Given the description of an element on the screen output the (x, y) to click on. 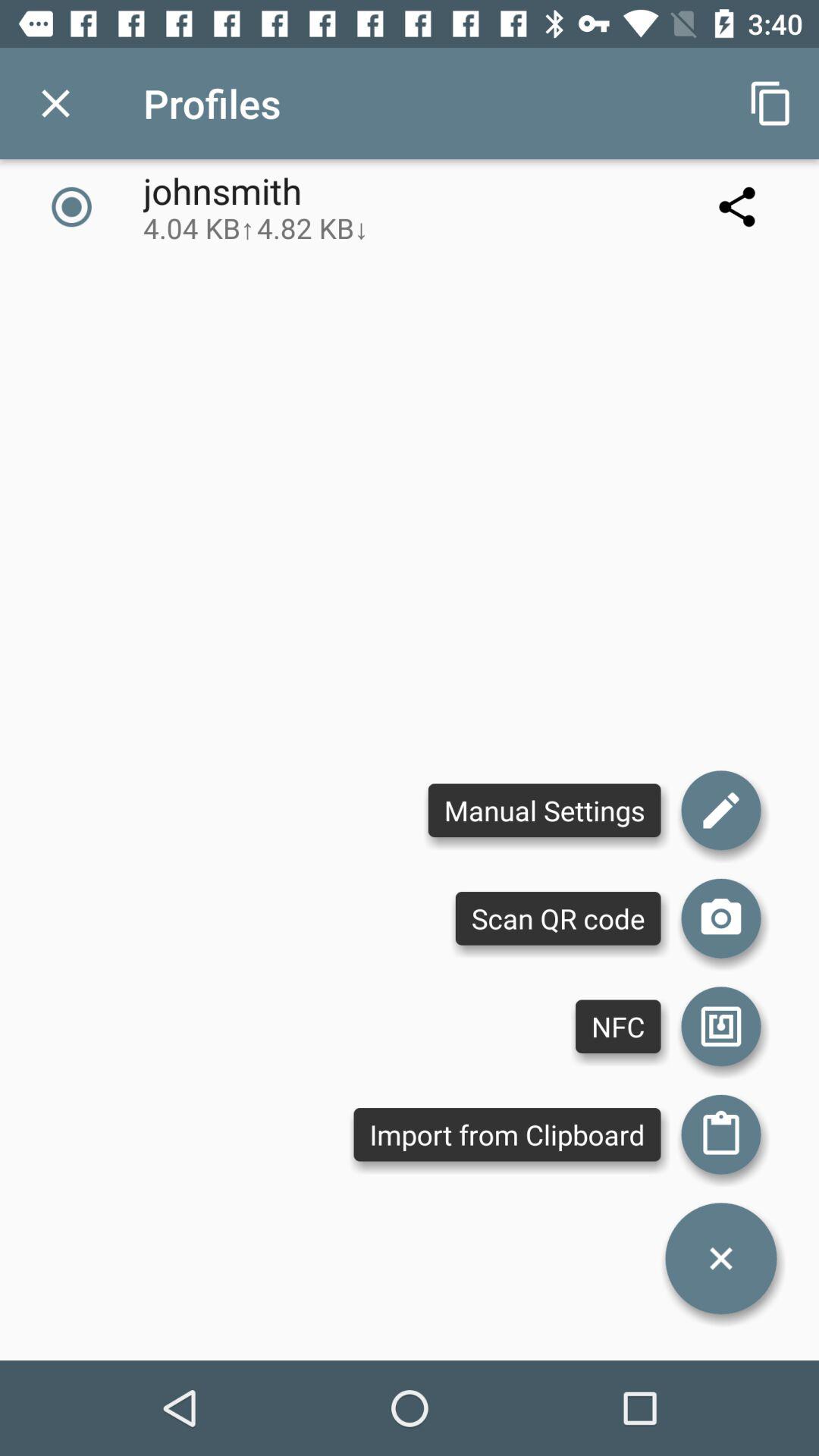
turn off manual settings (544, 810)
